Given the description of an element on the screen output the (x, y) to click on. 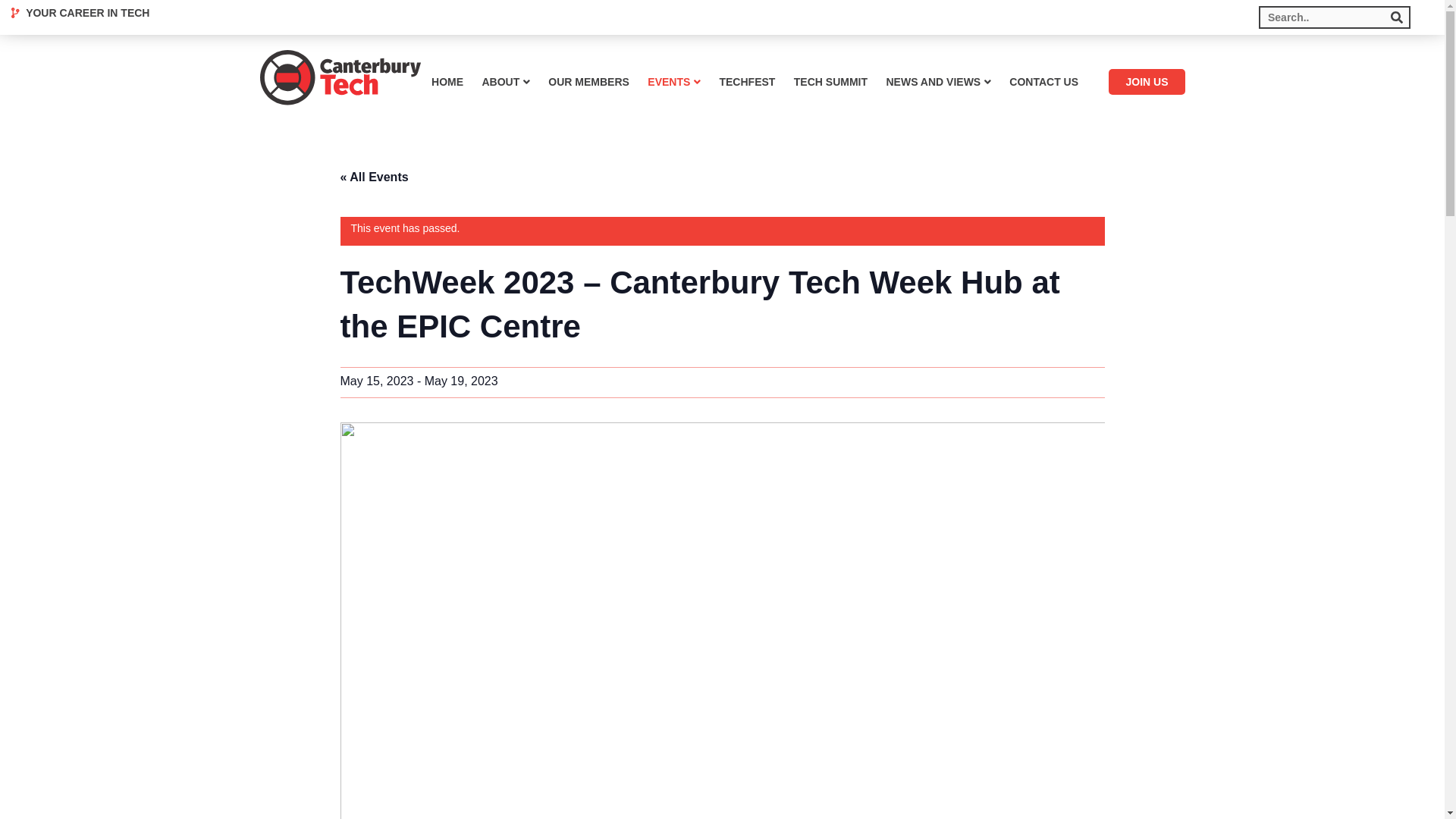
JOIN US (1146, 81)
OUR MEMBERS (588, 81)
TECH SUMMIT (830, 81)
Search for: (1334, 16)
EVENTS (673, 81)
ABOUT (505, 81)
TECHFEST (746, 81)
HOME (446, 81)
CONTACT US (1043, 81)
YOUR CAREER IN TECH (80, 12)
NEWS AND VIEWS (937, 81)
